Given the description of an element on the screen output the (x, y) to click on. 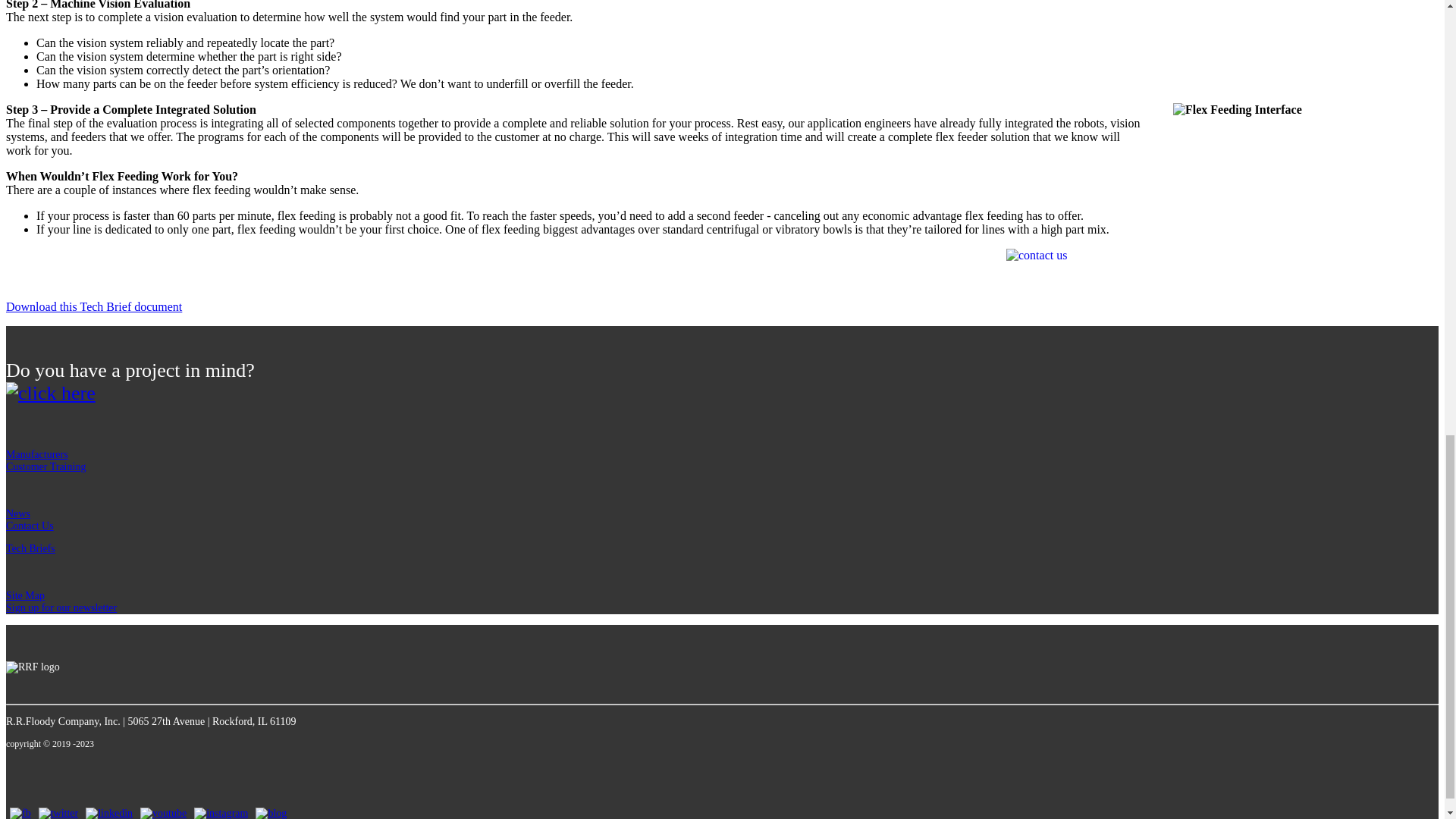
Site Map (25, 595)
News (17, 513)
Contact Us (29, 525)
Customer Training (45, 466)
Manufacturers (36, 454)
Download this Tech Brief document (93, 306)
Tech Briefs (30, 548)
Sign up for our newsletter (60, 607)
